Given the description of an element on the screen output the (x, y) to click on. 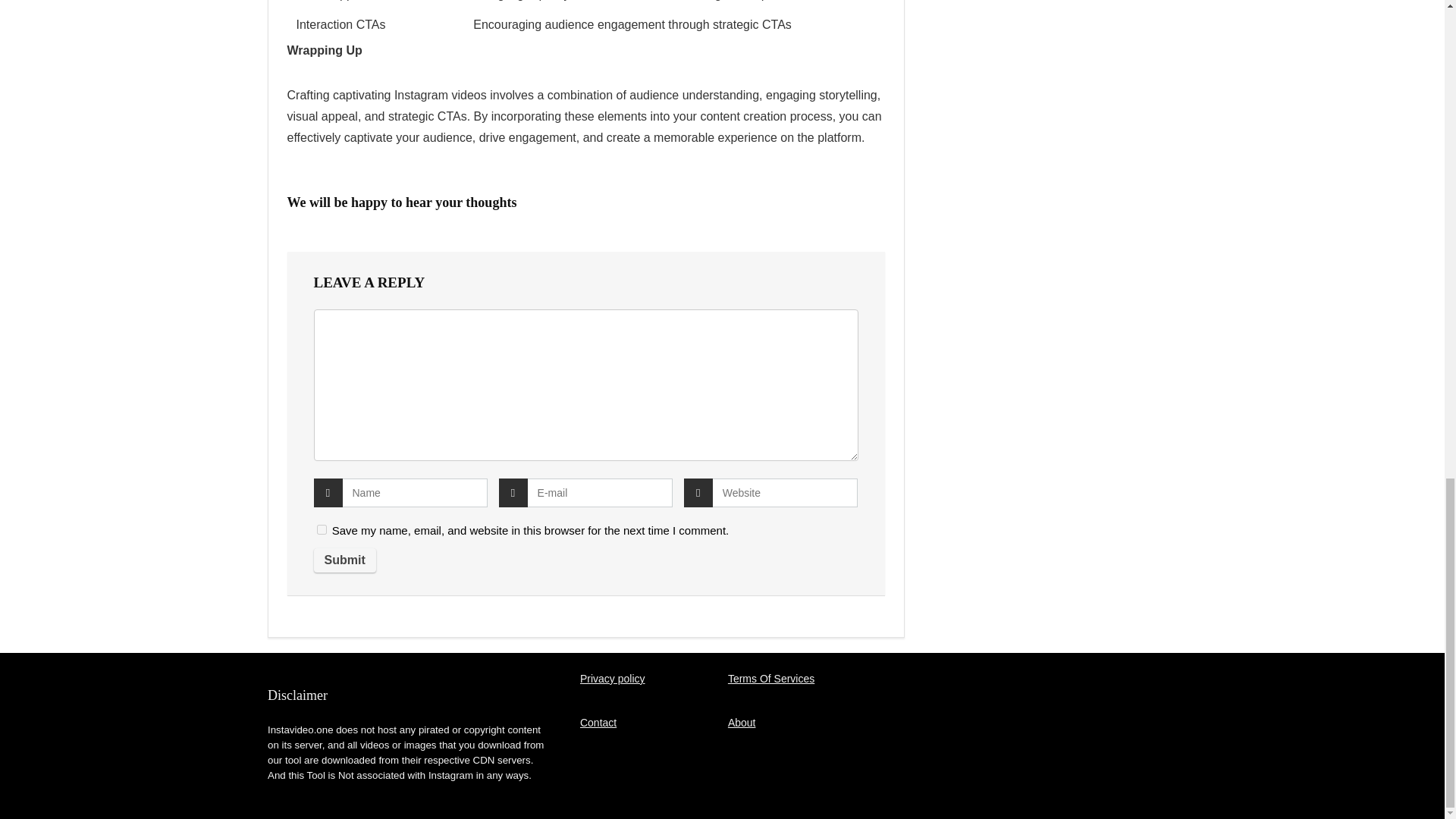
Submit (344, 559)
Contact (597, 722)
About (741, 722)
Submit (344, 559)
yes (321, 529)
Terms Of Services (770, 678)
Privacy policy (612, 678)
